Given the description of an element on the screen output the (x, y) to click on. 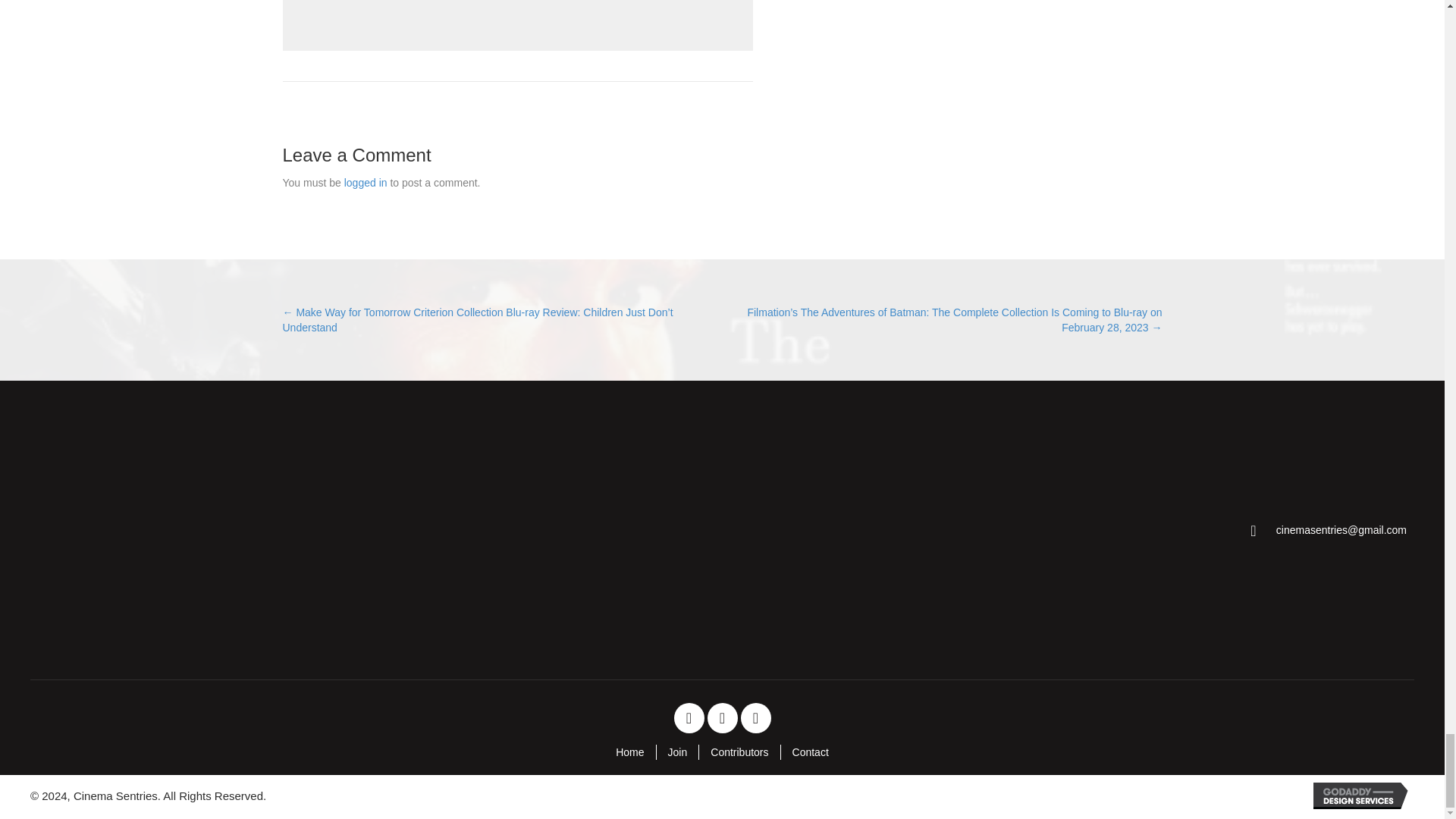
Cinema Sentries (148, 530)
Facebook (687, 717)
logged in (365, 182)
Twitter (721, 717)
Instagram (754, 717)
